Given the description of an element on the screen output the (x, y) to click on. 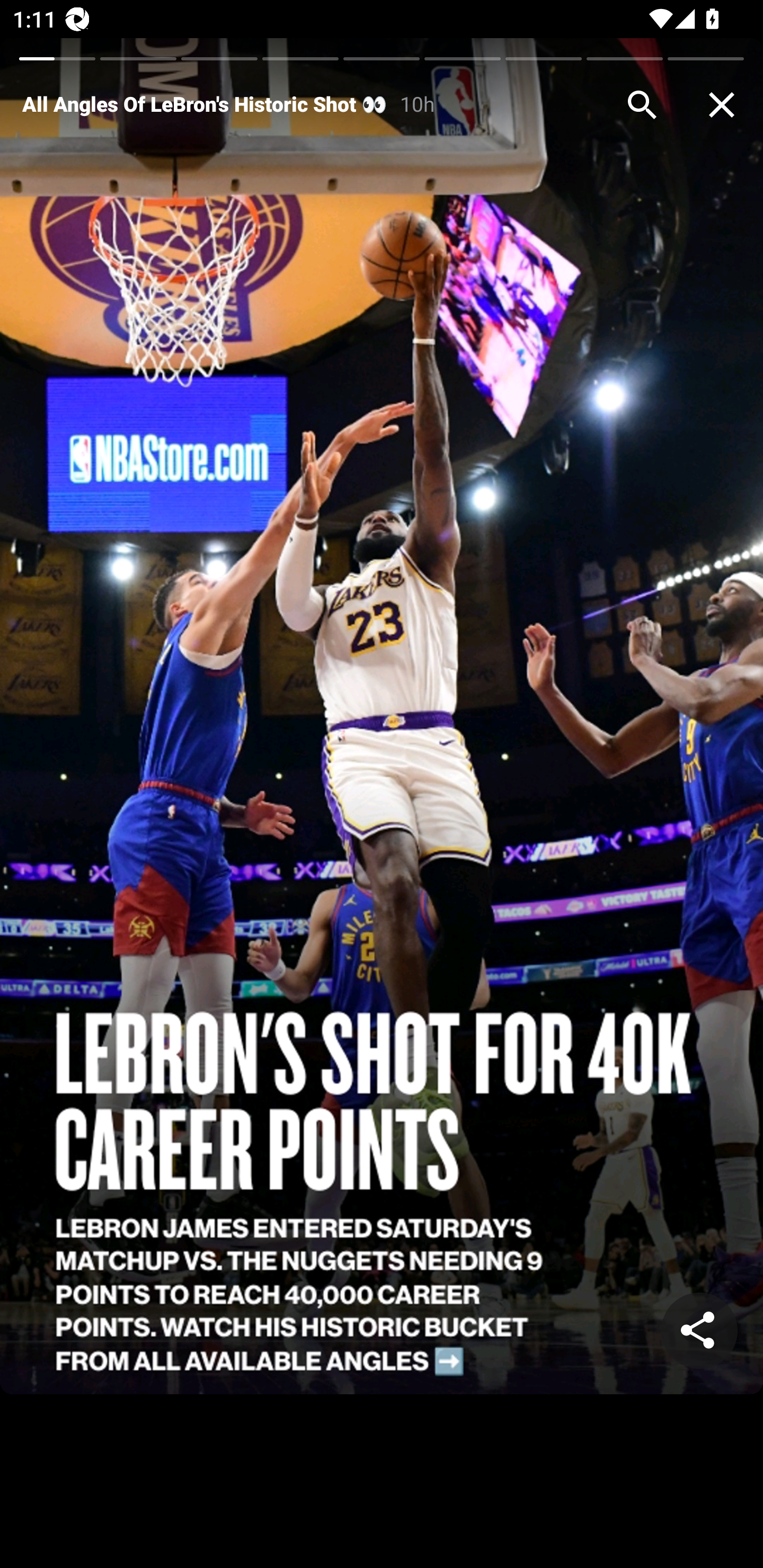
search (642, 104)
close (721, 104)
share (699, 1330)
